Given the description of an element on the screen output the (x, y) to click on. 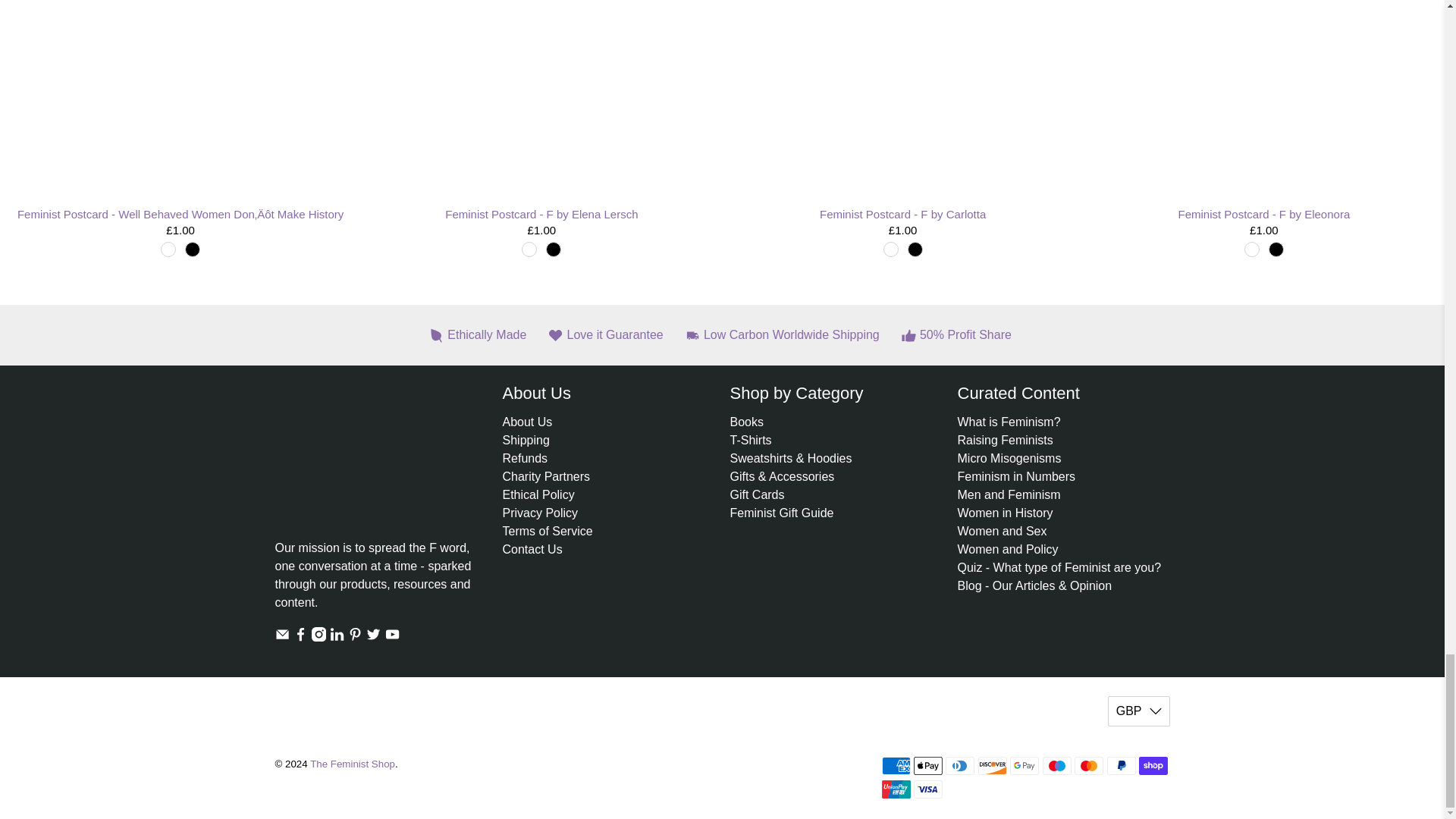
American Express (895, 765)
Discover (992, 765)
Apple Pay (928, 765)
Diners Club (959, 765)
